Given the description of an element on the screen output the (x, y) to click on. 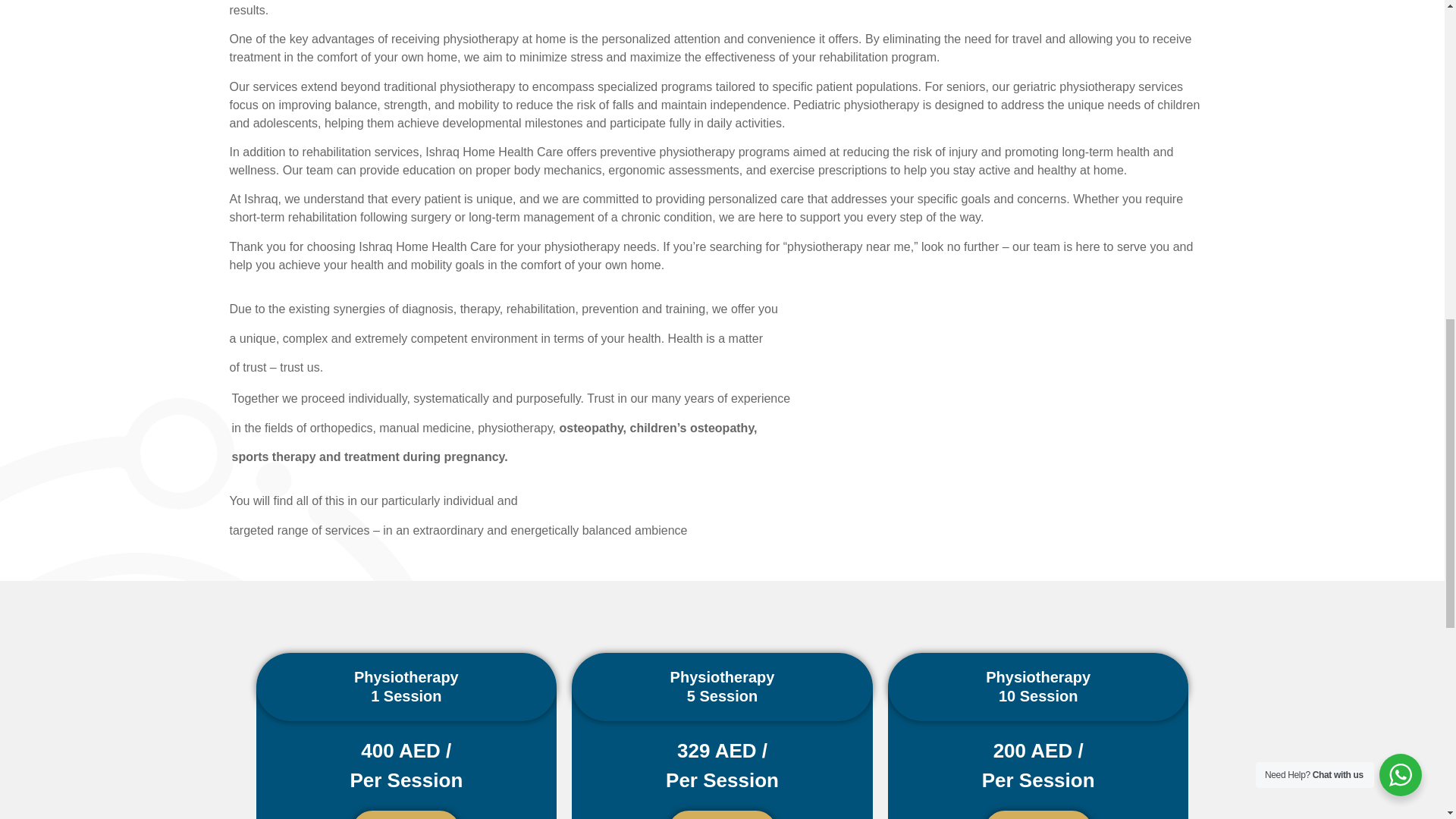
Book Now (406, 814)
Book Now (1038, 814)
Book Now (722, 814)
